Given the description of an element on the screen output the (x, y) to click on. 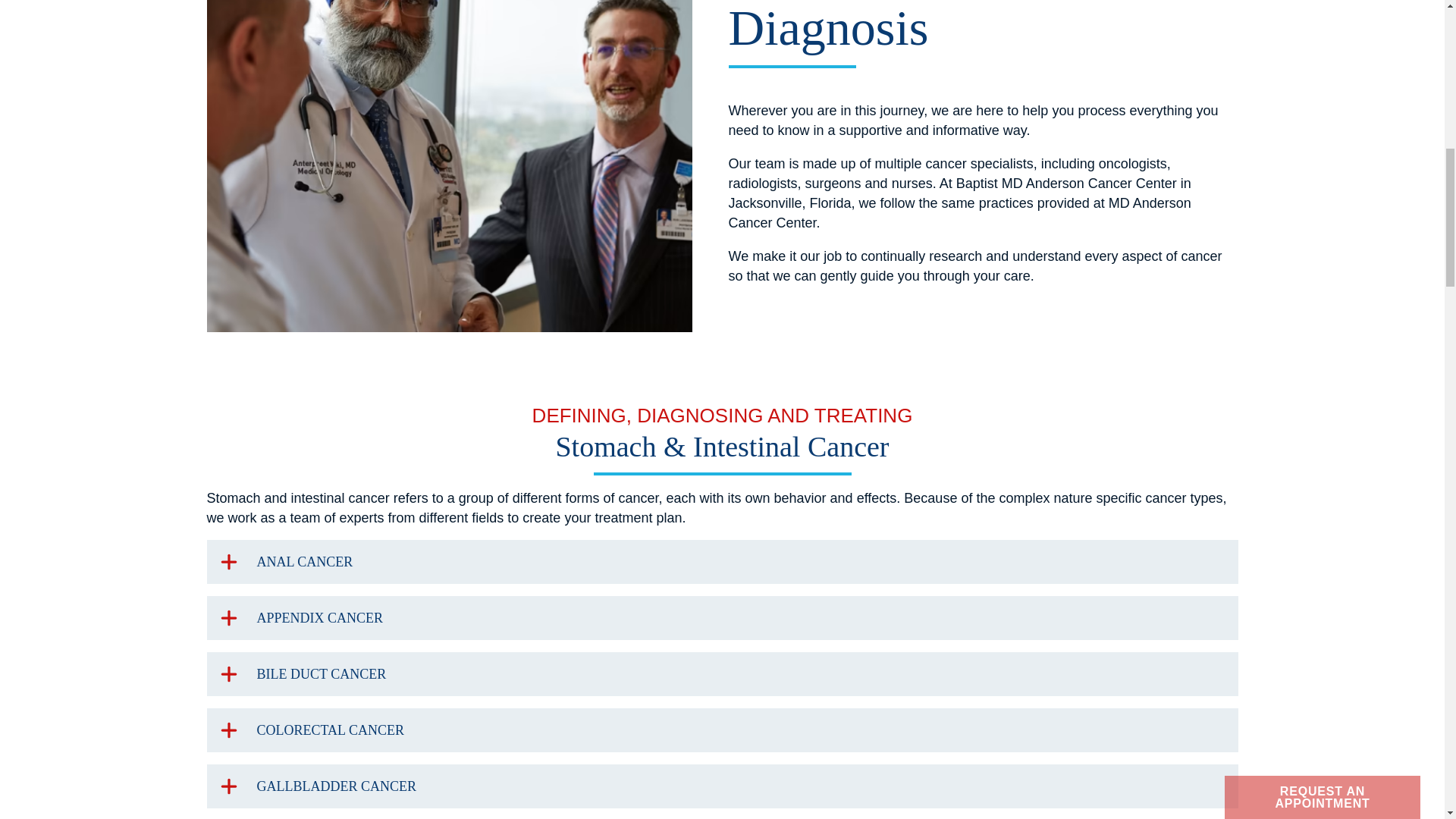
COLORECTAL CANCER (721, 730)
APPENDIX CANCER (721, 617)
ANAL CANCER (721, 561)
BILE DUCT CANCER (721, 673)
GALLBLADDER CANCER (721, 786)
